Given the description of an element on the screen output the (x, y) to click on. 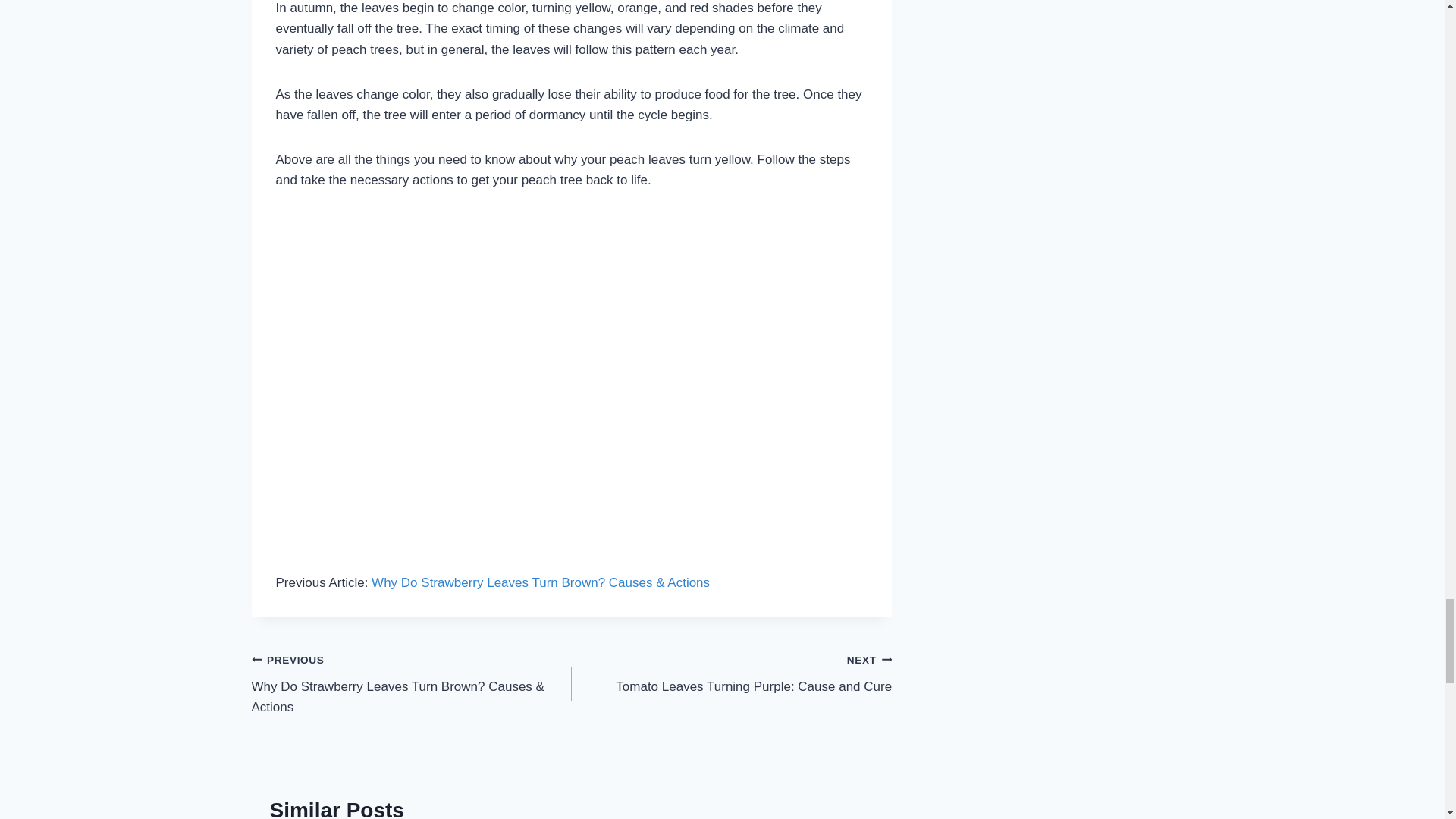
Peach Tree Leaves Turning Yellow: What to Do? (731, 672)
